Given the description of an element on the screen output the (x, y) to click on. 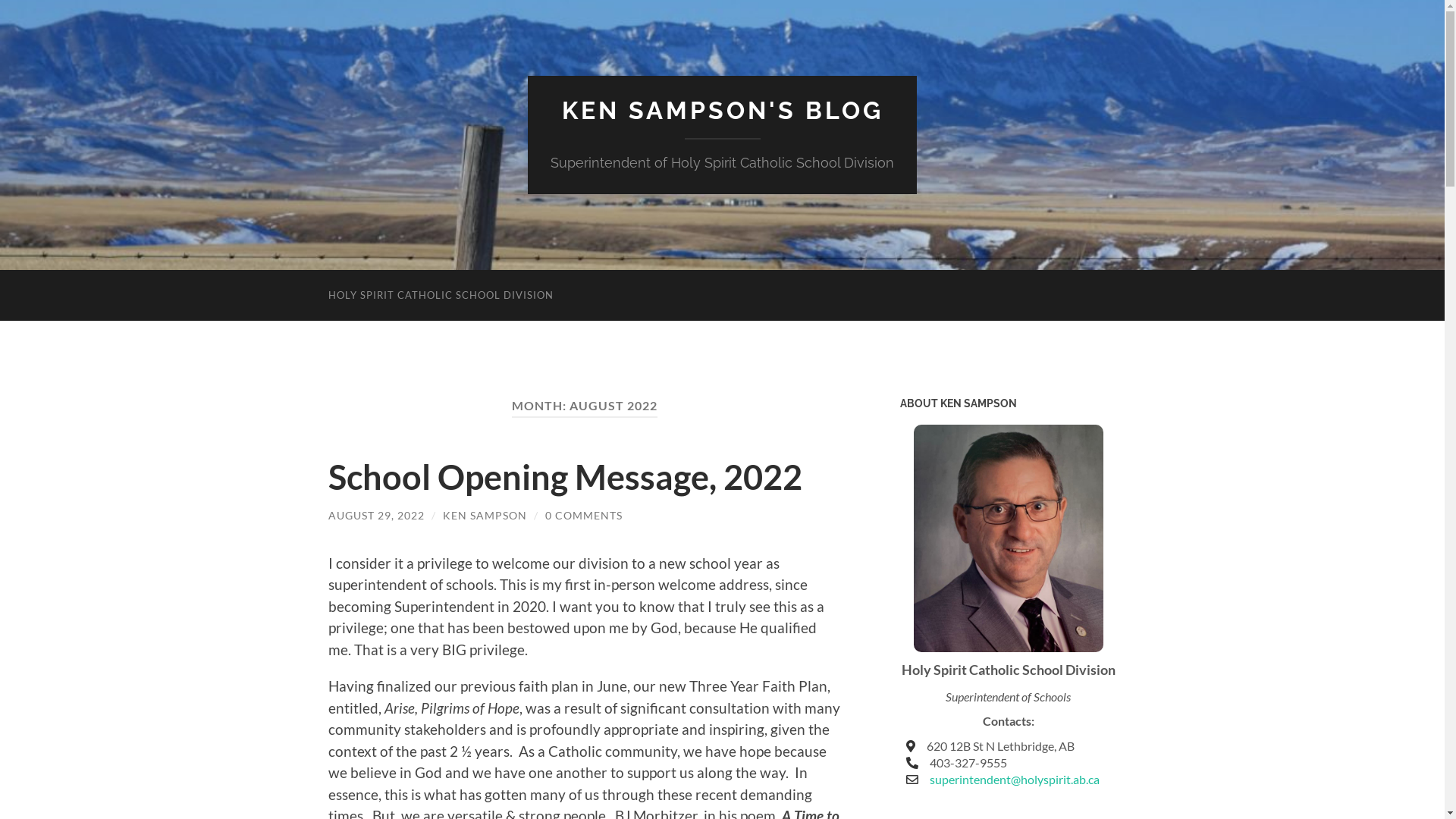
0 COMMENTS Element type: text (582, 514)
KEN SAMPSON'S BLOG Element type: text (721, 110)
HOLY SPIRIT CATHOLIC SCHOOL DIVISION Element type: text (439, 294)
superintendent@holyspirit.ab.ca Element type: text (1014, 778)
School Opening Message, 2022 Element type: text (564, 476)
KEN SAMPSON Element type: text (484, 514)
AUGUST 29, 2022 Element type: text (375, 514)
